Given the description of an element on the screen output the (x, y) to click on. 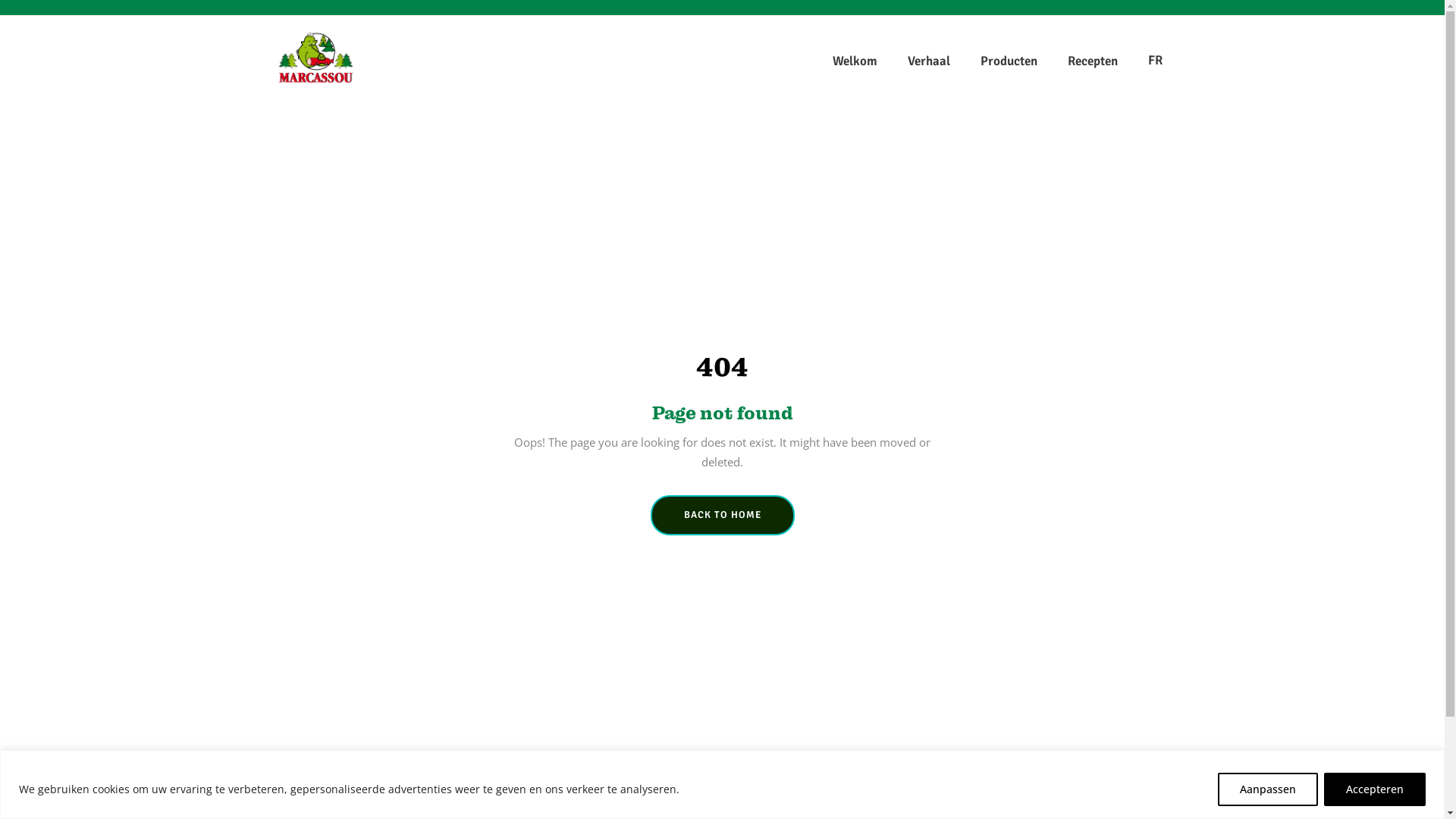
Welkom Element type: text (854, 60)
Producten Element type: text (1007, 60)
Accepteren Element type: text (1374, 788)
FR Element type: text (1154, 60)
Recepten Element type: text (1092, 60)
Verhaal Element type: text (927, 60)
BACK TO HOME Element type: text (722, 515)
Aanpassen Element type: text (1267, 788)
